Given the description of an element on the screen output the (x, y) to click on. 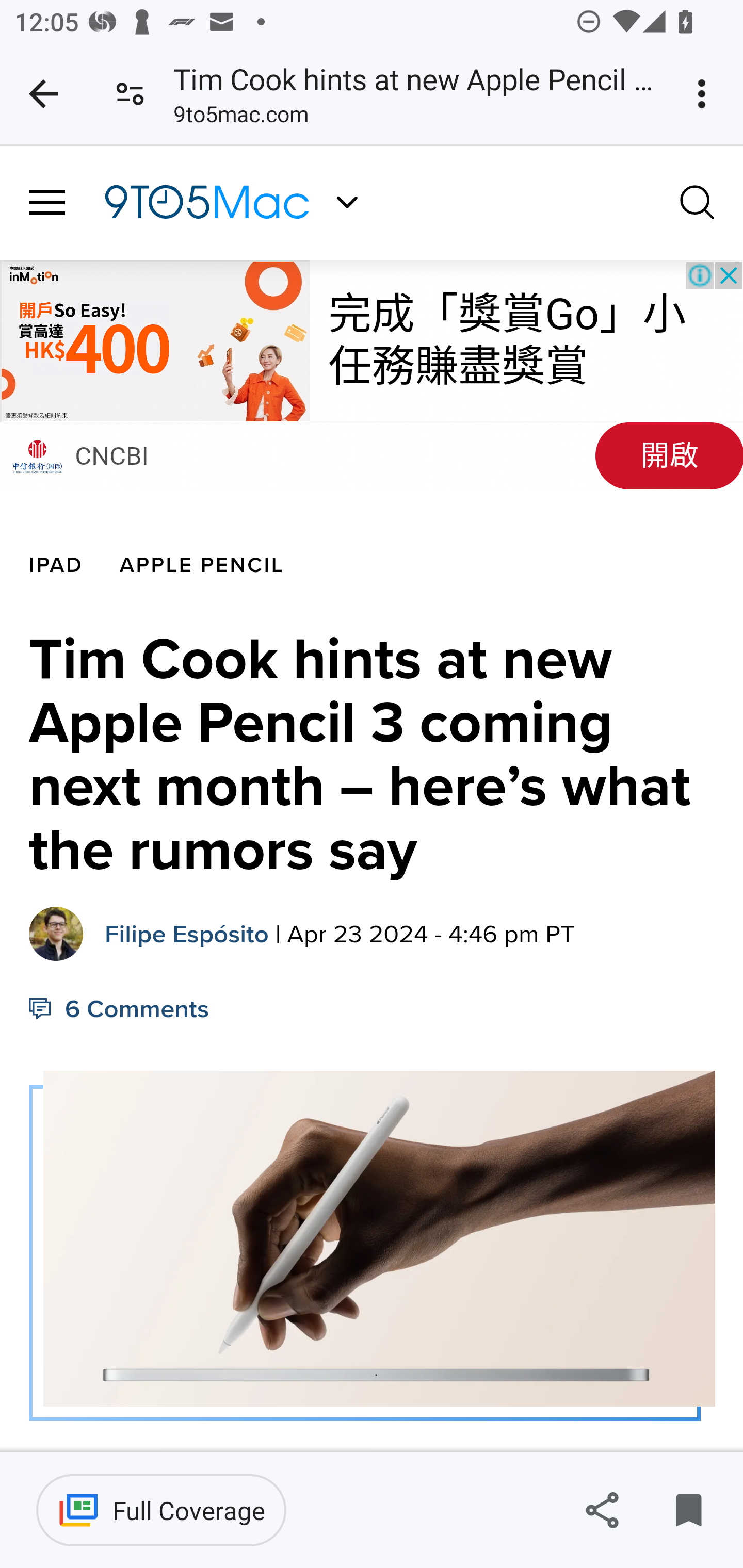
Close tab (43, 93)
Customize and control Google Chrome (705, 93)
Connection is secure (129, 93)
9to5mac.com (240, 117)
Toggle main menu (46, 203)
Toggle search form (697, 201)
Switch site (346, 202)
Full Coverage (161, 1509)
Share (601, 1510)
Remove from saved stories (688, 1510)
